Given the description of an element on the screen output the (x, y) to click on. 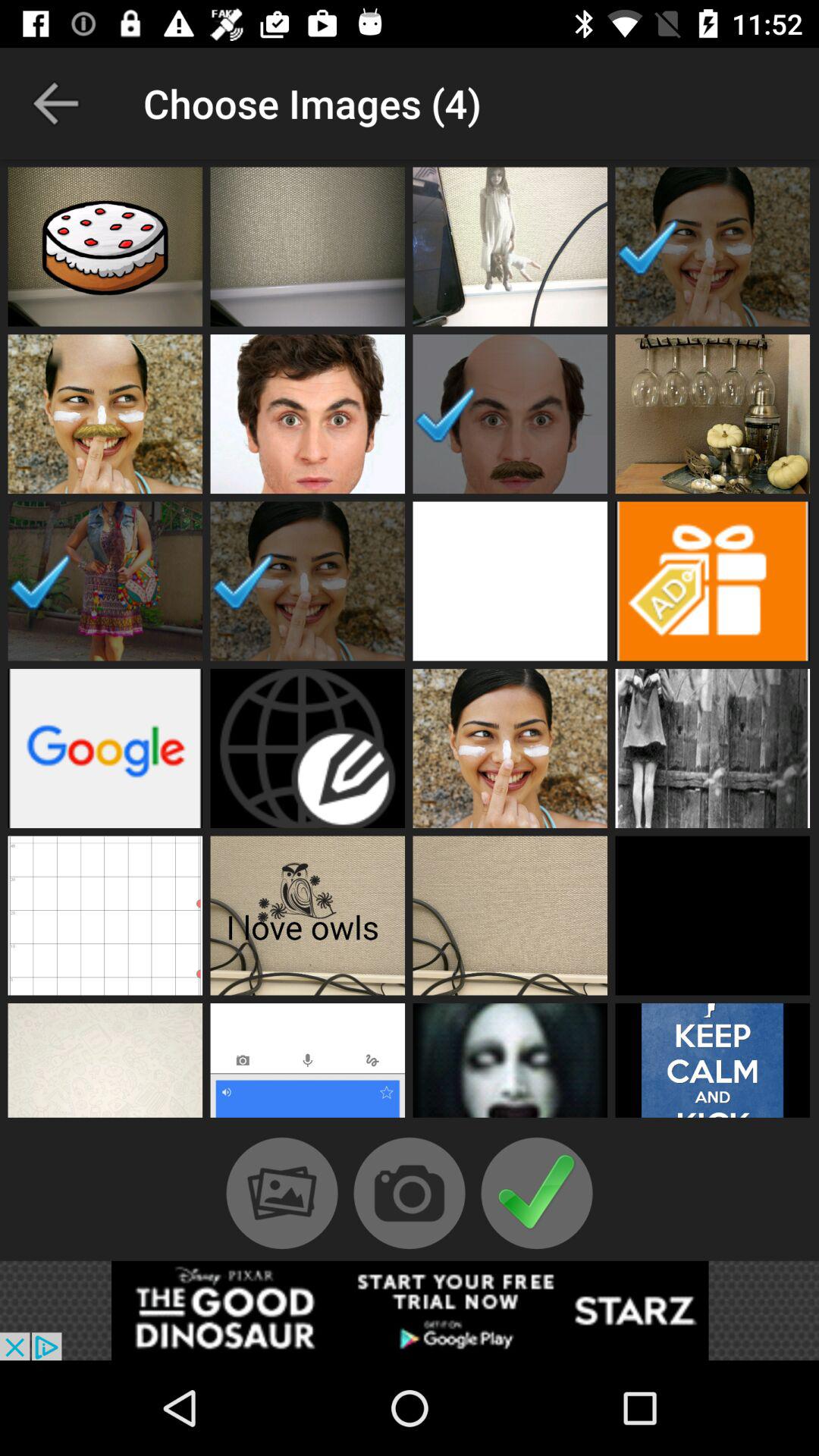
click on picture (712, 1064)
